Given the description of an element on the screen output the (x, y) to click on. 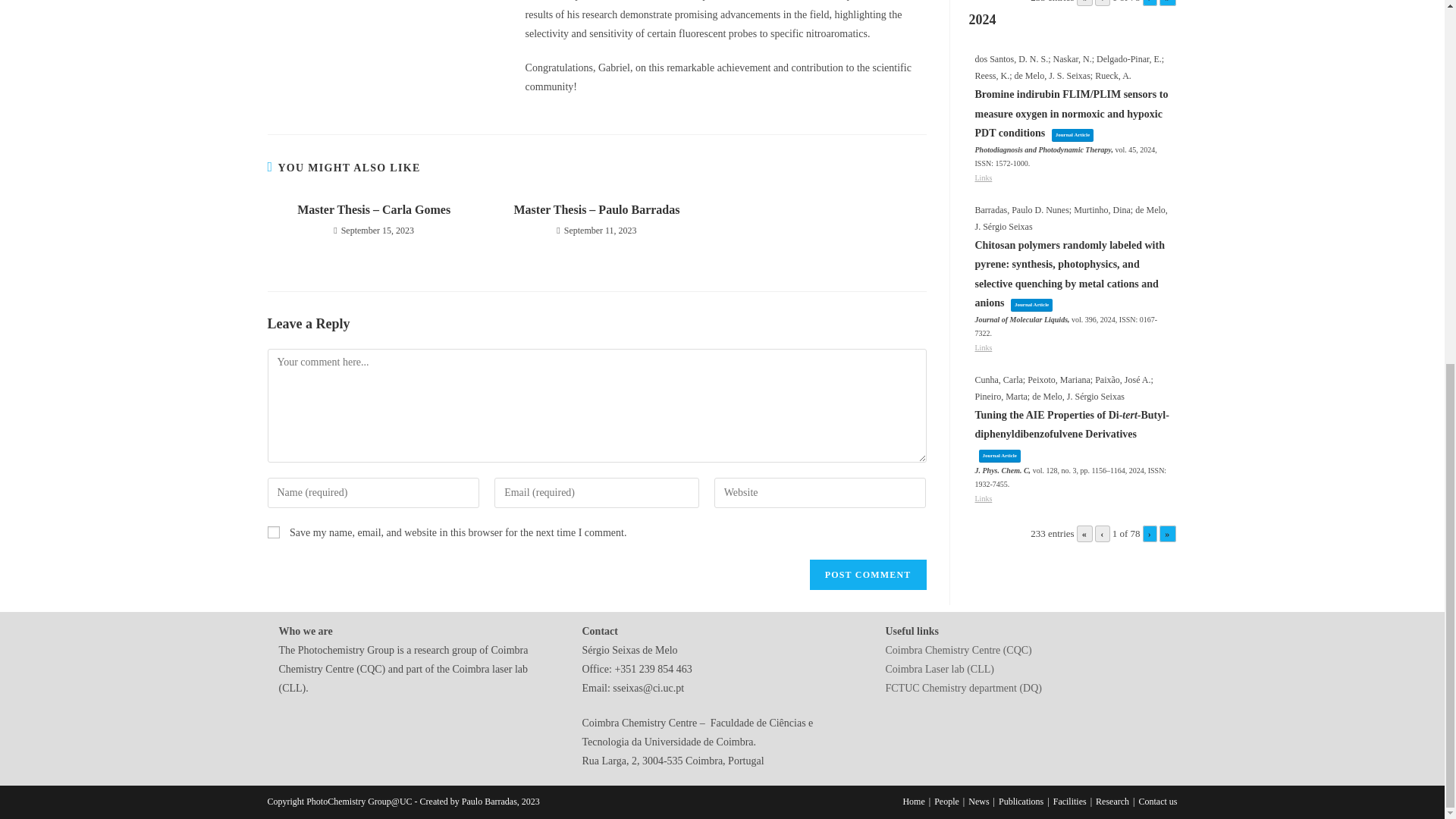
Show links and resources (983, 498)
last page (1166, 533)
Post Comment (867, 574)
Show links and resources (983, 347)
last page (1166, 2)
Show links and resources (983, 177)
next page (1149, 2)
Post Comment (867, 574)
yes (272, 532)
